Given the description of an element on the screen output the (x, y) to click on. 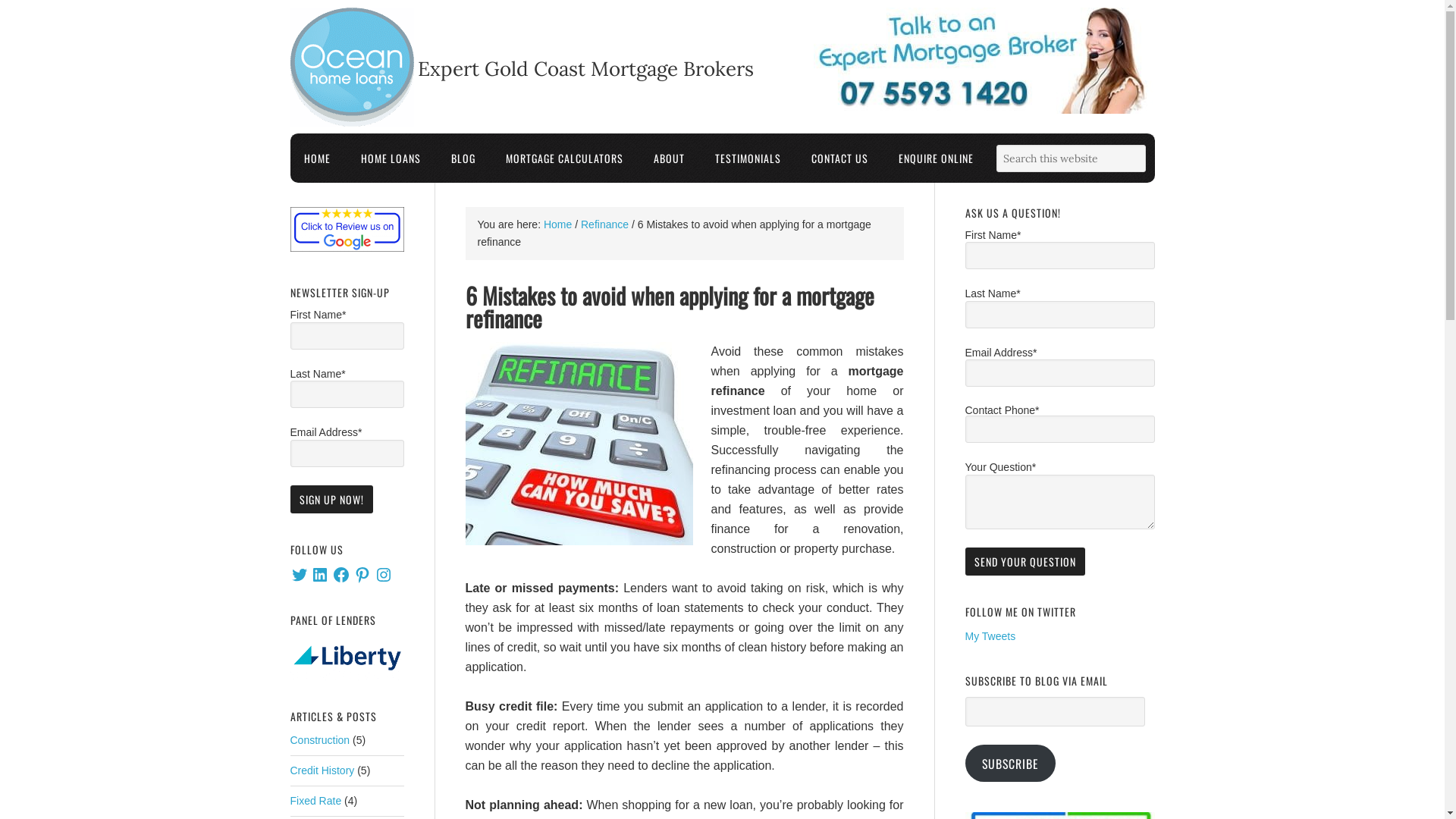
Send your Question Element type: text (1024, 561)
Ocean Home Loans Expert Gold Coast Mortgage Brokers Element type: hover (351, 66)
Facebook Element type: text (341, 574)
Home Element type: text (557, 224)
Refinance Element type: text (604, 224)
MORTGAGE CALCULATORS Element type: text (563, 157)
HOME LOANS Element type: text (390, 157)
BLOG Element type: text (462, 157)
Expert Gold Coast Mortgage Brokers Element type: hover (351, 122)
SUBSCRIBE Element type: text (1009, 762)
Credit History Element type: text (321, 770)
Twitter Element type: text (298, 574)
My Tweets Element type: text (989, 636)
Construction Element type: text (319, 740)
TESTIMONIALS Element type: text (746, 157)
Pinterest Element type: text (362, 574)
Instagram Element type: text (383, 574)
Search Element type: text (1145, 144)
Fixed Rate Element type: text (315, 800)
ABOUT Element type: text (669, 157)
Sign Up Now! Element type: text (330, 499)
ENQUIRE ONLINE Element type: text (935, 157)
CONTACT US Element type: text (839, 157)
HOME Element type: text (316, 157)
LinkedIn Element type: text (319, 574)
Google Review | Ocean Home Loans Element type: hover (346, 229)
GIFMakerorgq1sEHx | Ocean Home Loans Element type: hover (346, 657)
